Given the description of an element on the screen output the (x, y) to click on. 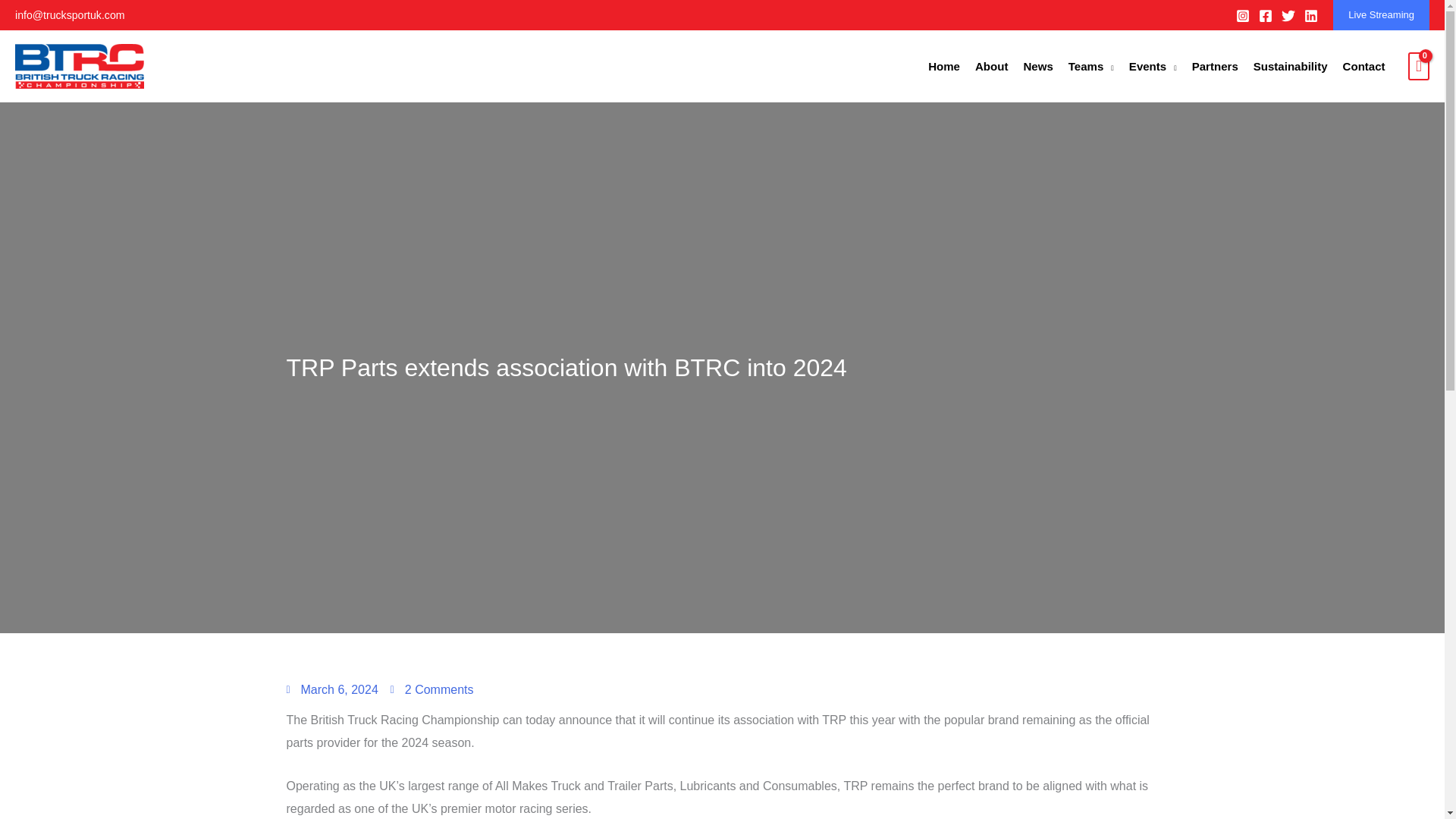
2 Comments (432, 689)
Sustainability (1290, 66)
Live Streaming (1381, 15)
March 6, 2024 (332, 689)
